Given the description of an element on the screen output the (x, y) to click on. 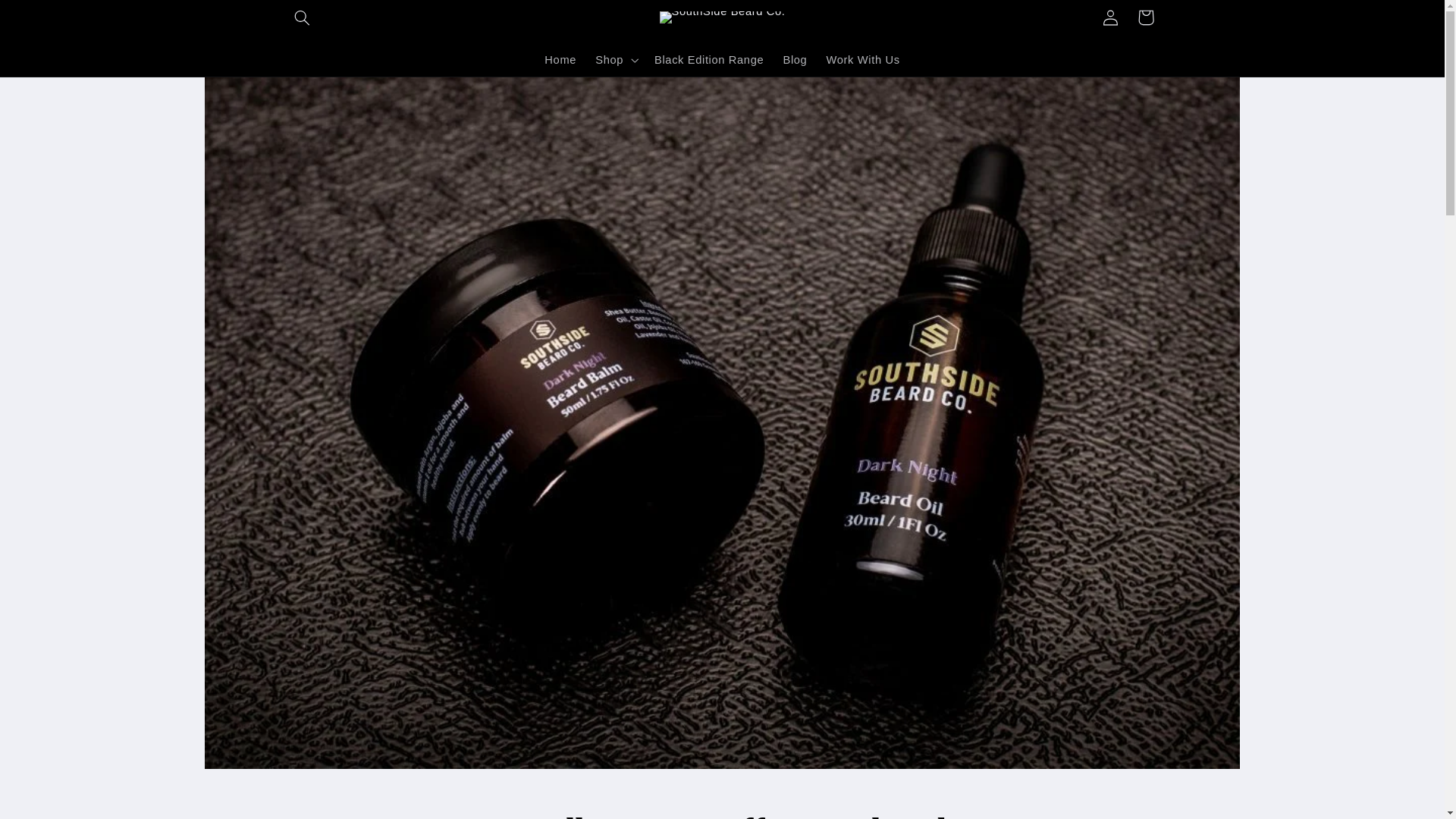
Blog (794, 59)
Black Edition Range (709, 59)
Skip to content (48, 18)
Work With Us (862, 59)
Home (560, 59)
Cart (1145, 17)
Log in (1110, 17)
